Given the description of an element on the screen output the (x, y) to click on. 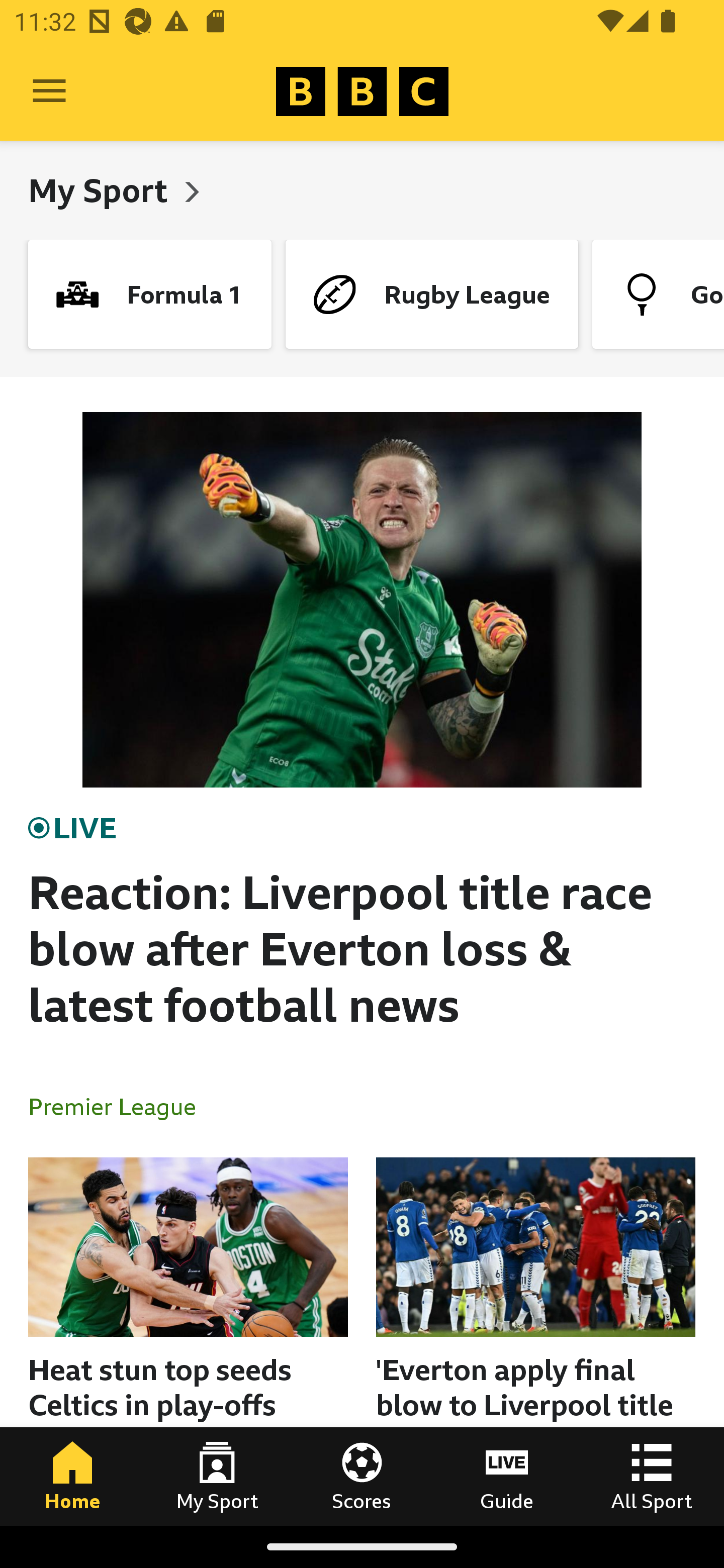
Open Menu (49, 91)
My Sport (101, 190)
Premier League In the section Premier League (119, 1106)
My Sport (216, 1475)
Scores (361, 1475)
Guide (506, 1475)
All Sport (651, 1475)
